Given the description of an element on the screen output the (x, y) to click on. 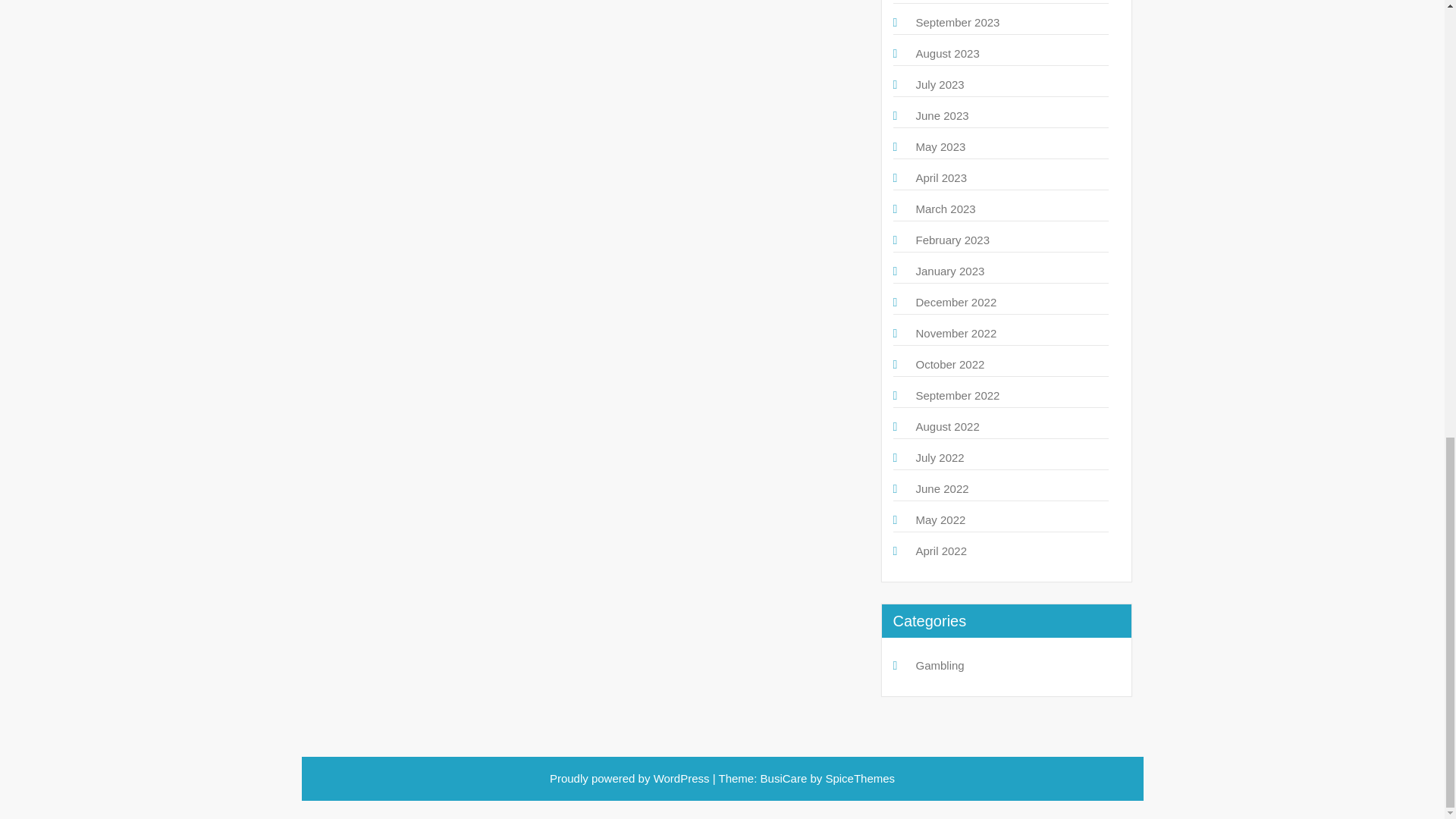
August 2022 (947, 426)
May 2023 (940, 146)
October 2022 (950, 364)
September 2022 (957, 395)
June 2023 (942, 115)
April 2022 (941, 550)
May 2022 (940, 519)
July 2023 (939, 83)
December 2022 (956, 301)
September 2023 (957, 21)
August 2023 (947, 52)
July 2022 (939, 457)
Gambling (939, 665)
November 2022 (956, 332)
March 2023 (945, 208)
